Given the description of an element on the screen output the (x, y) to click on. 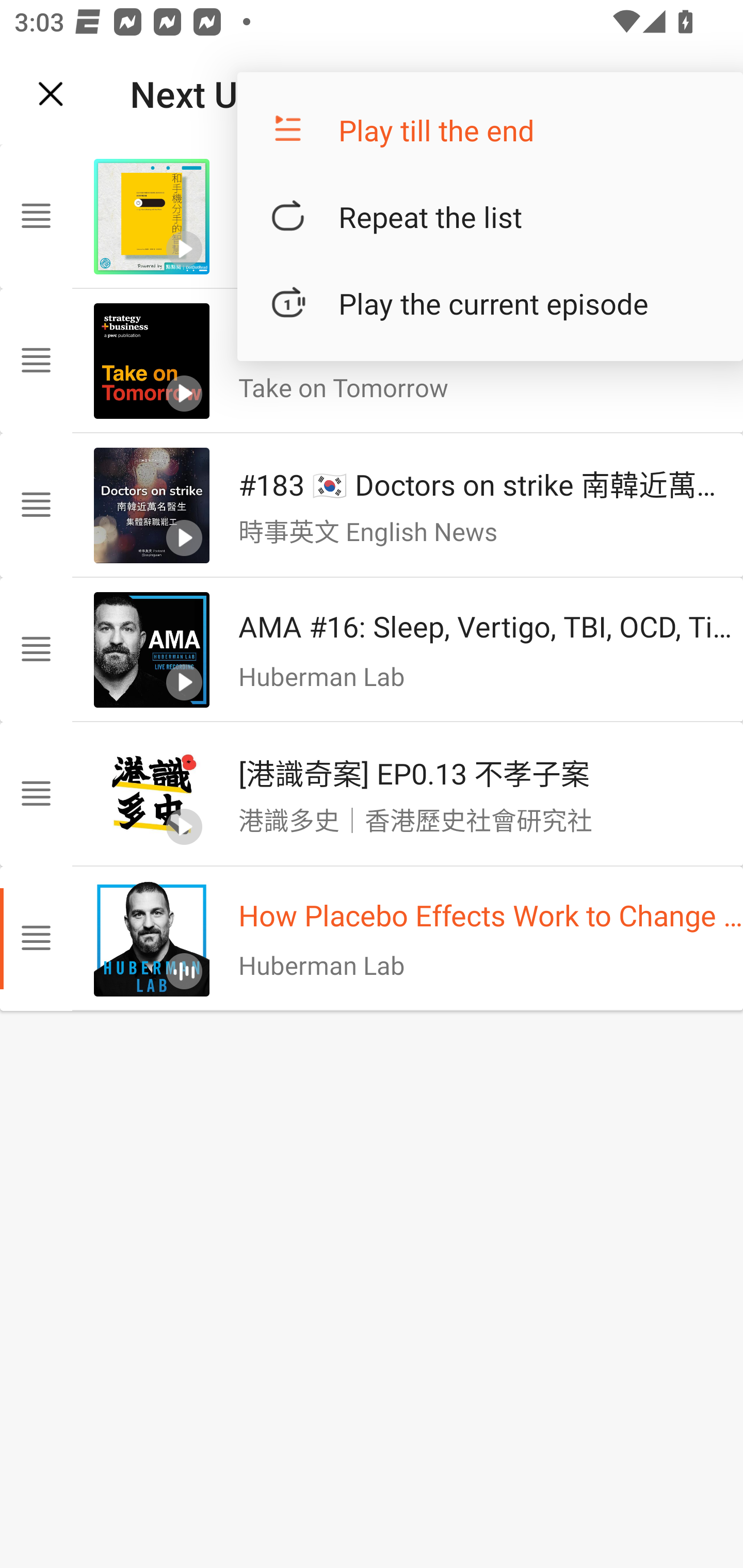
Play till the end (490, 130)
Repeat the list (490, 217)
Play the current episode (490, 303)
